Given the description of an element on the screen output the (x, y) to click on. 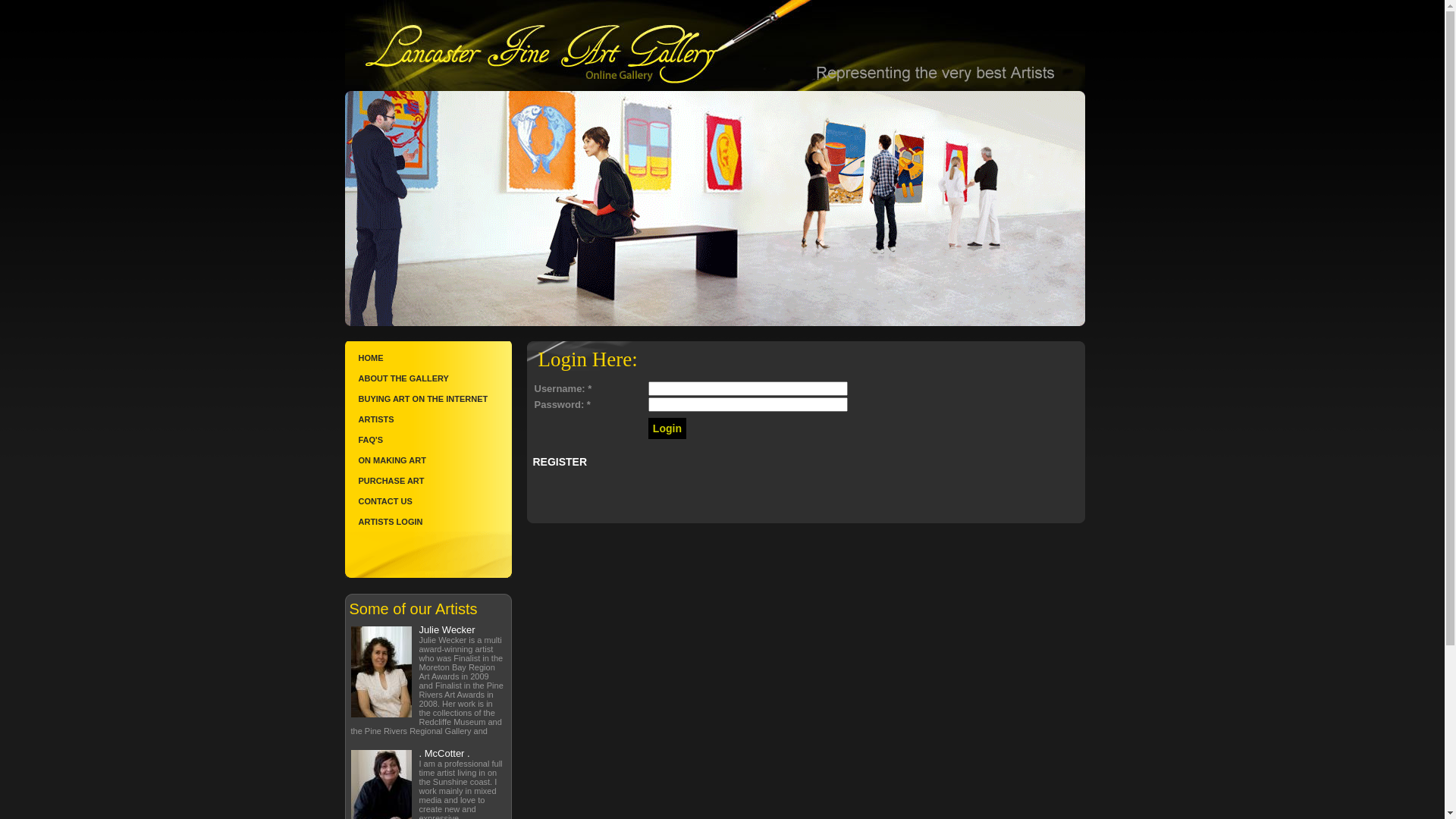
PURCHASE ART Element type: text (427, 480)
REGISTER Element type: text (559, 461)
BUYING ART ON THE INTERNET Element type: text (427, 398)
HOME Element type: text (427, 357)
ABOUT THE GALLERY Element type: text (427, 377)
Lancaster Fine Arts Element type: hover (714, 45)
. McCotter . Element type: text (443, 753)
Julie Wecker Element type: text (446, 629)
ON MAKING ART Element type: text (427, 459)
CONTACT US Element type: text (427, 500)
Login Element type: text (667, 428)
ARTISTS LOGIN Element type: text (427, 521)
FAQ'S Element type: text (427, 439)
ARTISTS Element type: text (427, 418)
